Given the description of an element on the screen output the (x, y) to click on. 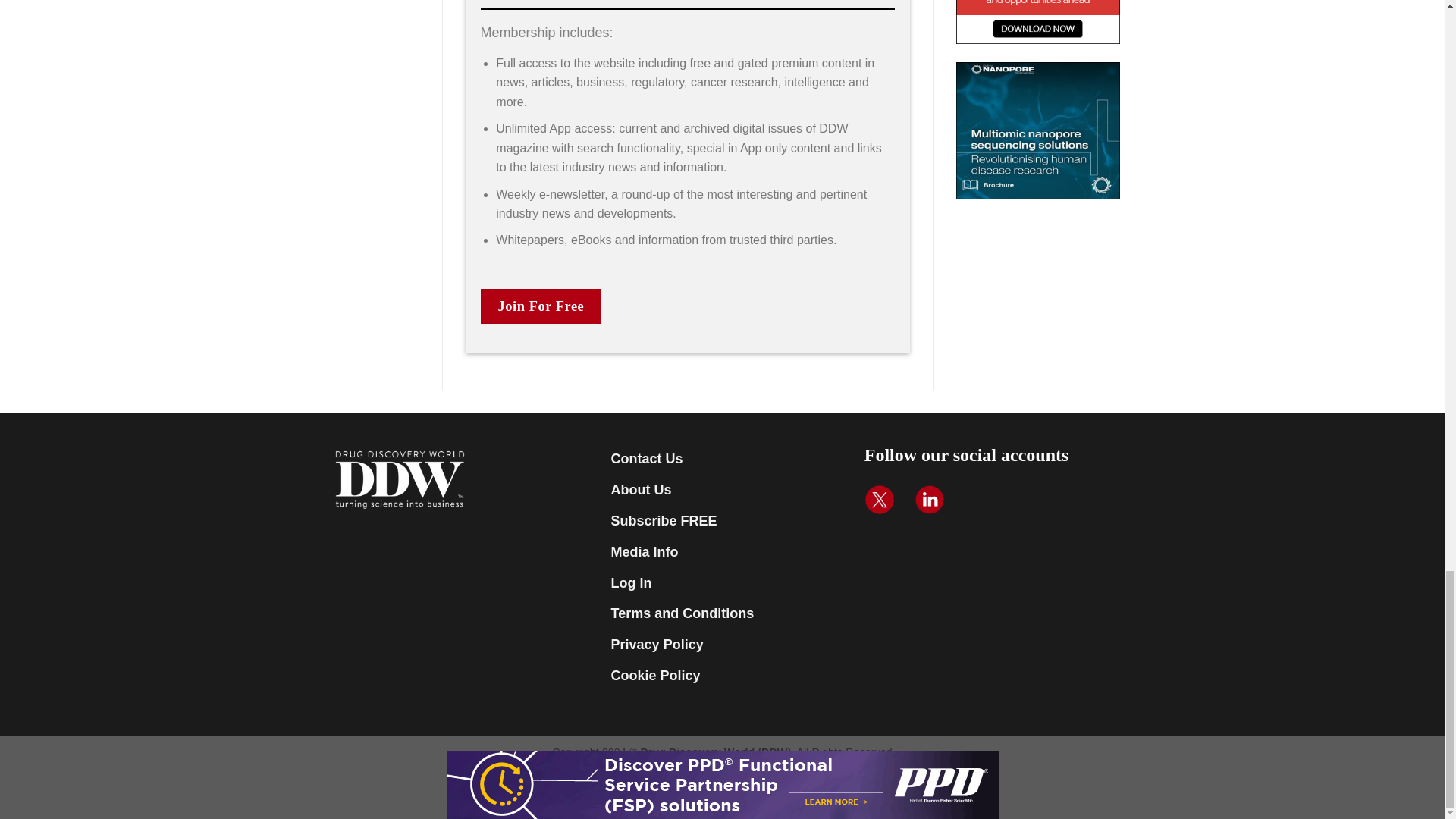
Download Brochure (1038, 130)
Download the eReport (1038, 22)
